Given the description of an element on the screen output the (x, y) to click on. 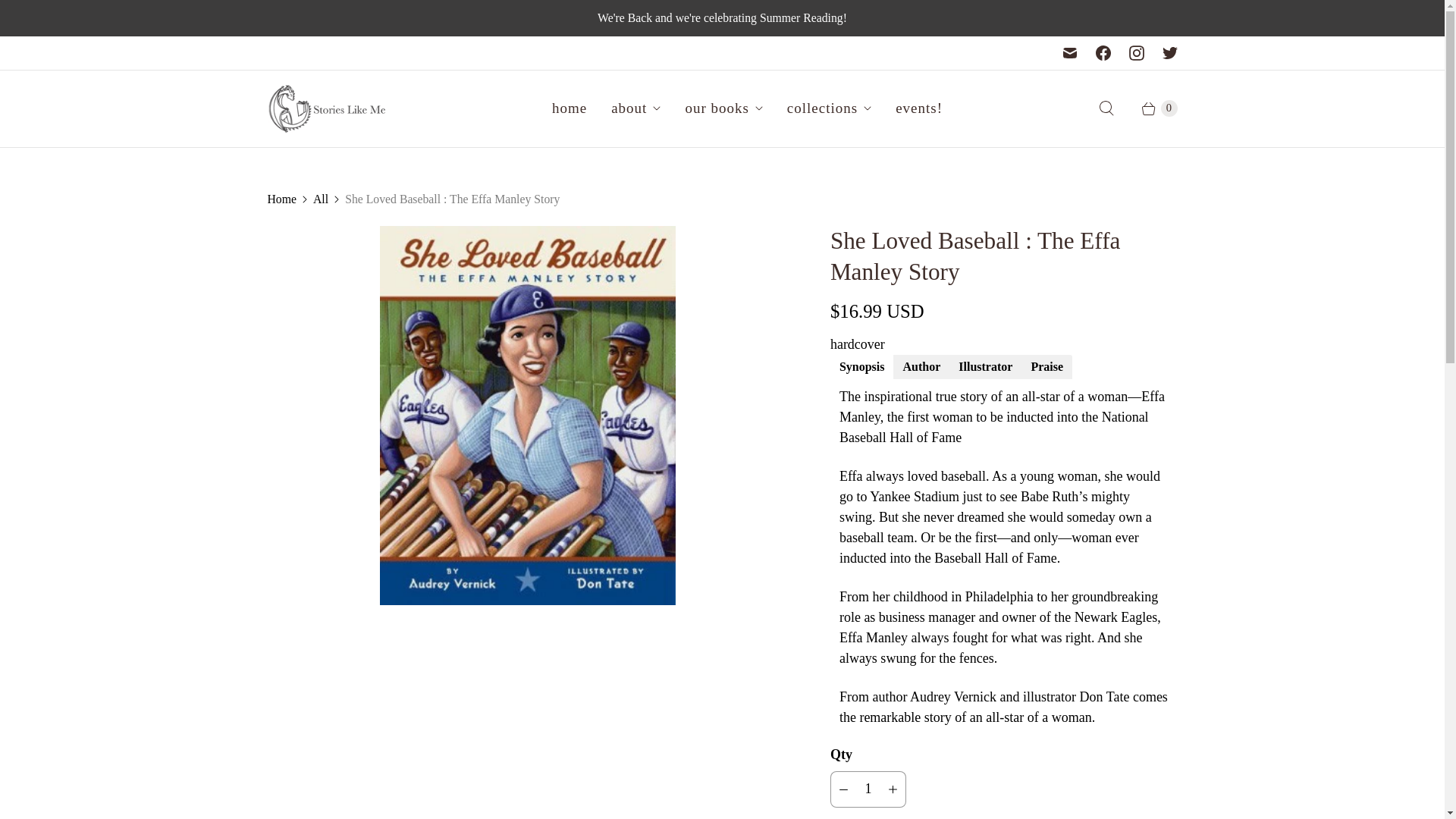
events! (919, 108)
home (569, 108)
0 (1151, 108)
